Given the description of an element on the screen output the (x, y) to click on. 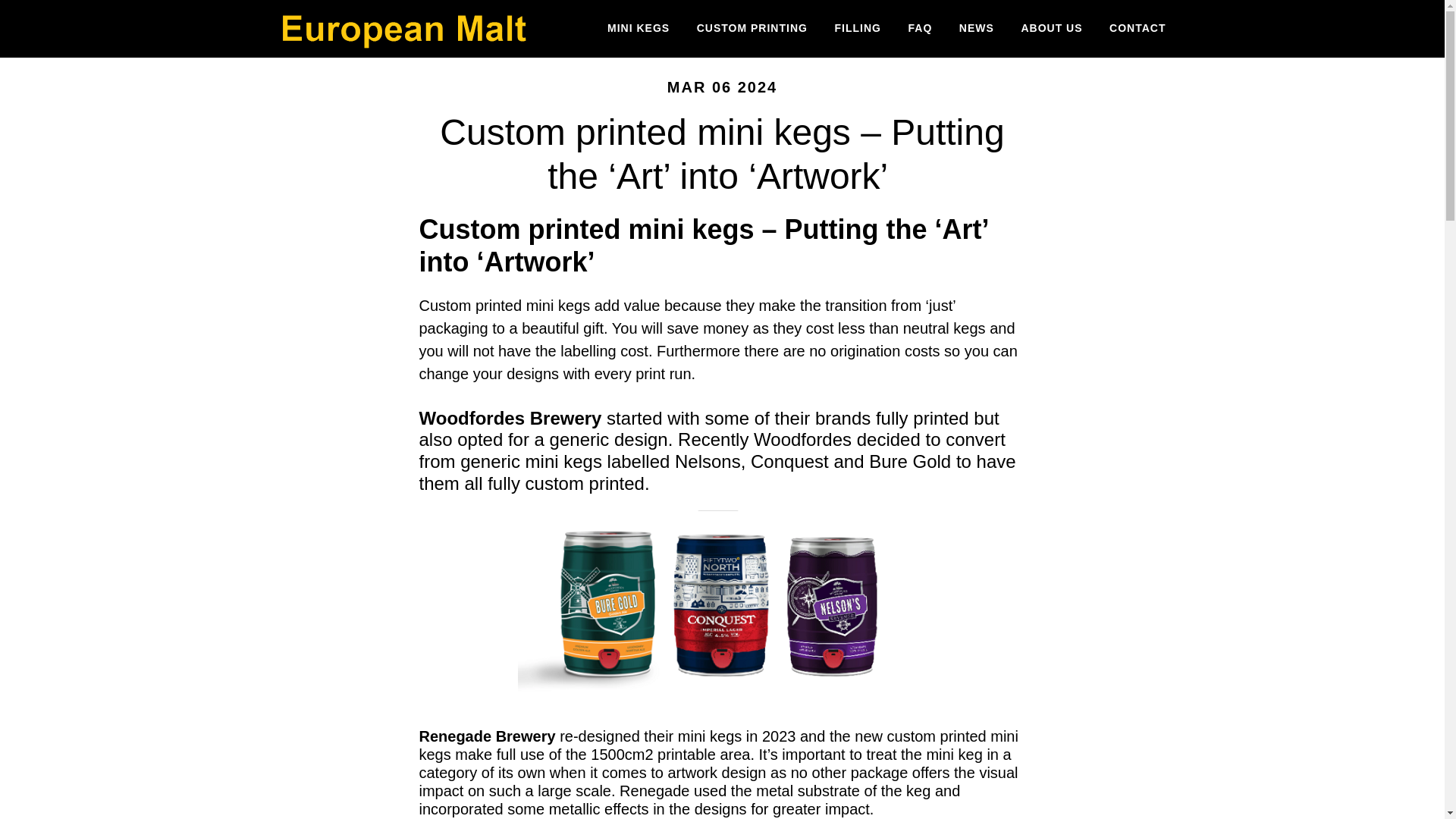
CUSTOM PRINTING (751, 28)
ABOUT US (1051, 28)
FILLING (858, 28)
NEWS (976, 28)
CONTACT (1136, 28)
MINI KEGS (638, 28)
EUROPEAN MALT (403, 28)
